Given the description of an element on the screen output the (x, y) to click on. 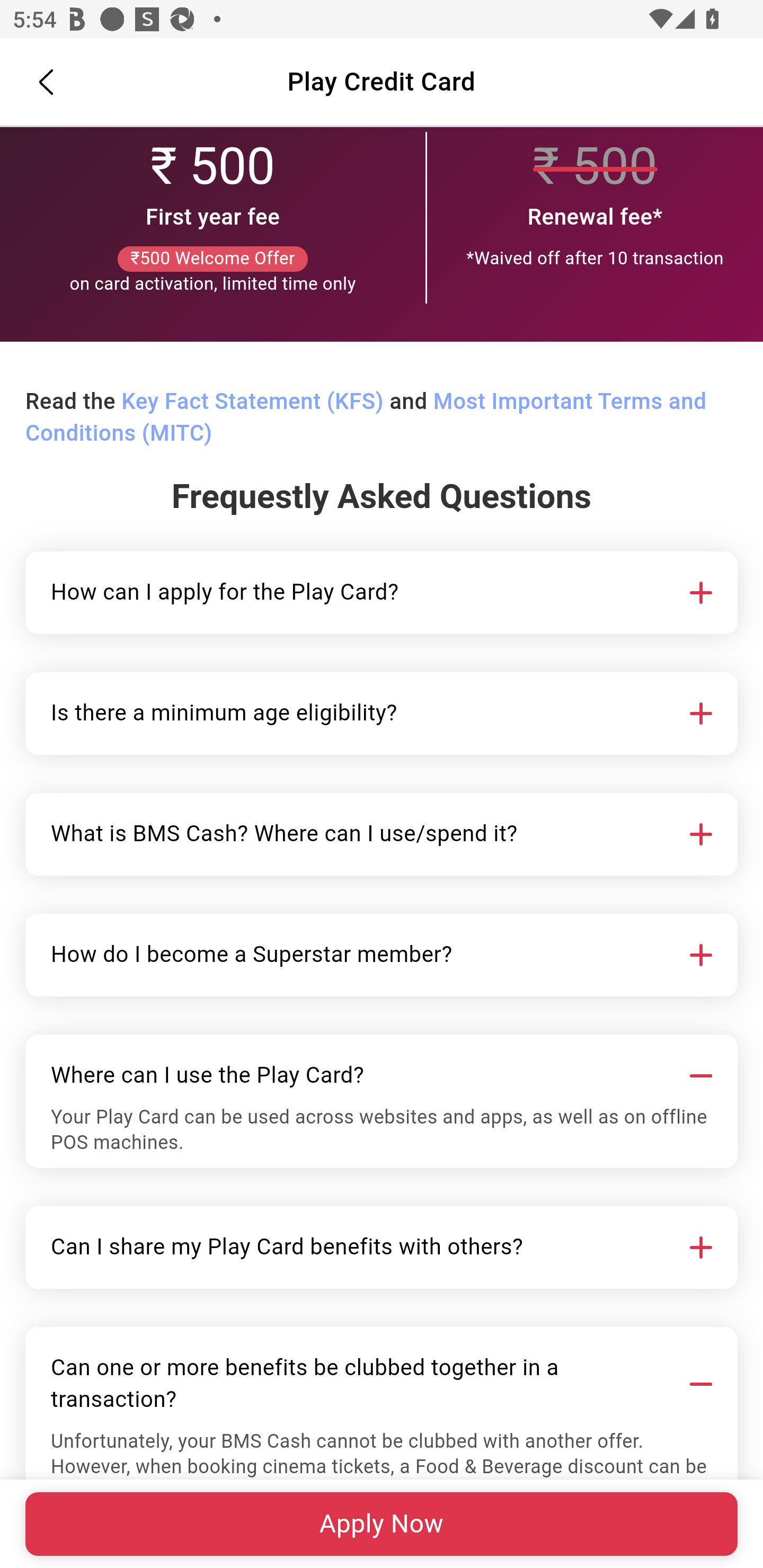
Most Important Terms and Conditions (MITC) (366, 418)
Key Fact Statement (KFS) (252, 402)
